Given the description of an element on the screen output the (x, y) to click on. 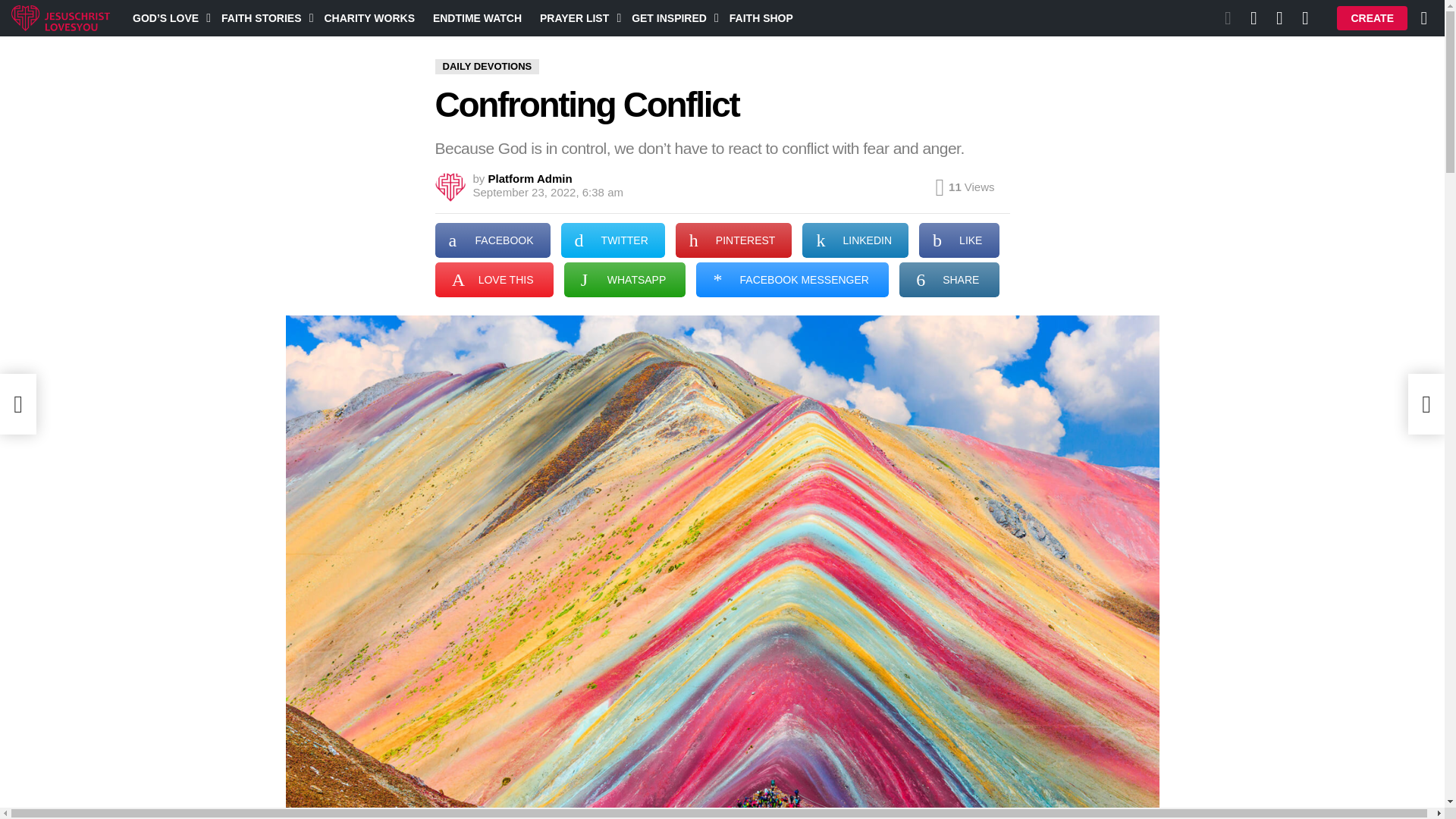
Share on Twitter (612, 239)
LIKE (958, 239)
Share on Like (958, 239)
GET INSPIRED (671, 17)
PRAYER LIST (576, 17)
FACEBOOK (492, 239)
CHARITY WORKS (368, 17)
Share on Facebook (492, 239)
LINKEDIN (855, 239)
TWITTER (612, 239)
WHATSAPP (624, 279)
LOVE THIS (494, 279)
Share on Love This (494, 279)
